Given the description of an element on the screen output the (x, y) to click on. 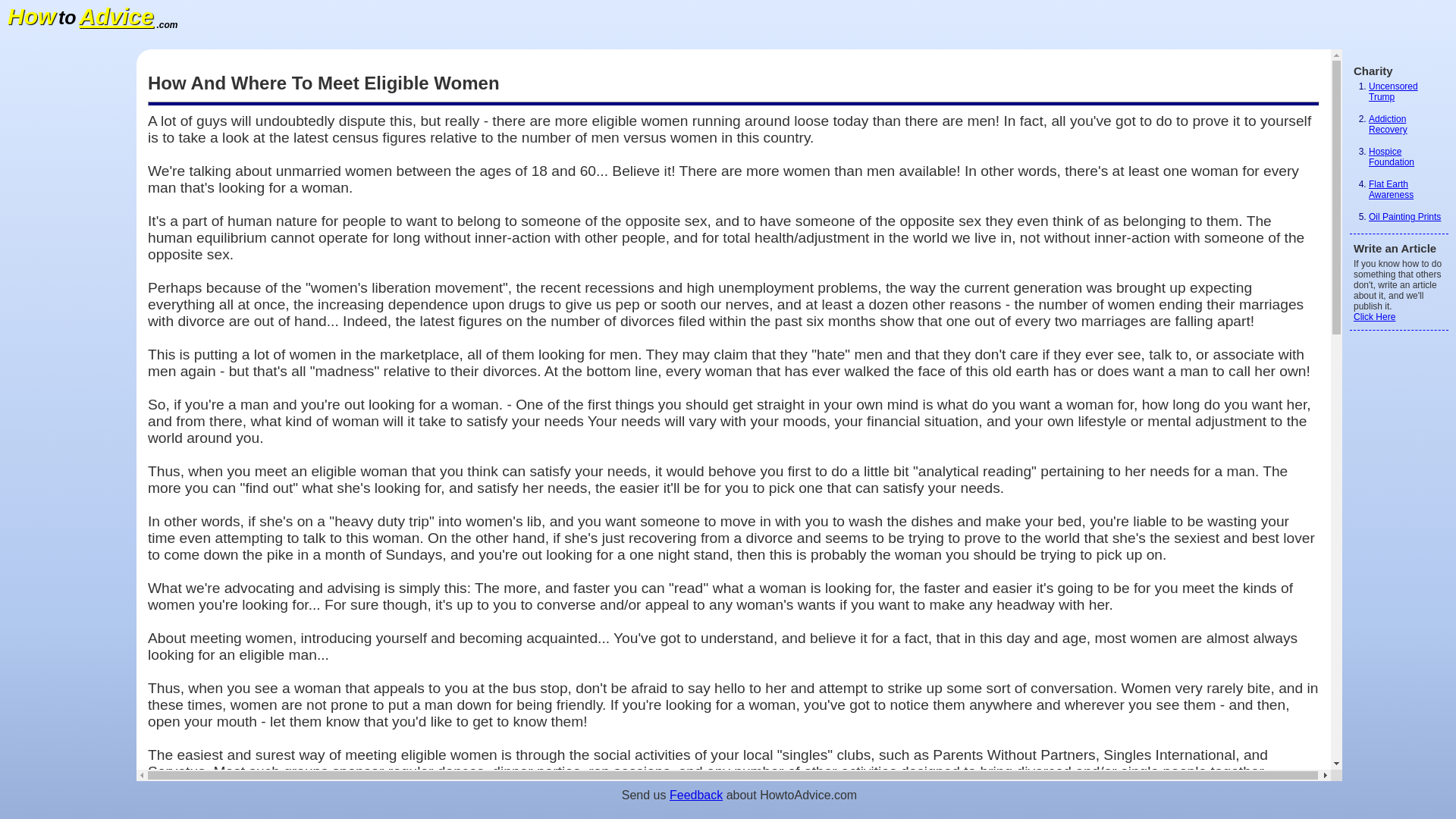
Flat Earth Awareness (1390, 189)
Oil Painting Prints (1404, 216)
Hospice Foundation (1390, 156)
Addiction Recovery (1387, 124)
Uncensored Trump (1393, 91)
Feedback (695, 794)
How to Advice .com (92, 20)
Advertisement (68, 276)
Click Here (1374, 317)
